Given the description of an element on the screen output the (x, y) to click on. 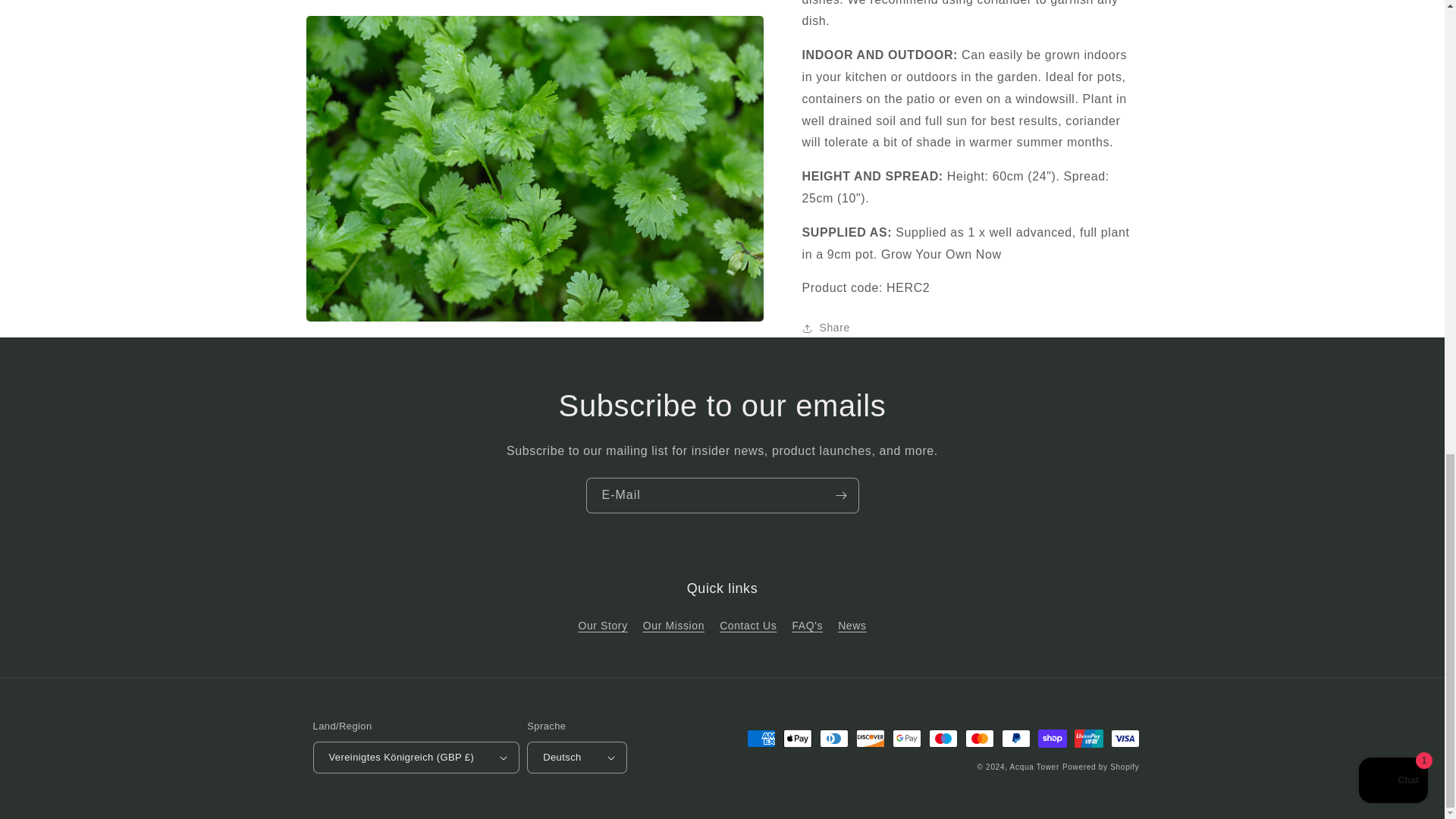
Our Mission (673, 625)
FAQ's (807, 625)
Our Story (602, 627)
Contact Us (747, 625)
